Given the description of an element on the screen output the (x, y) to click on. 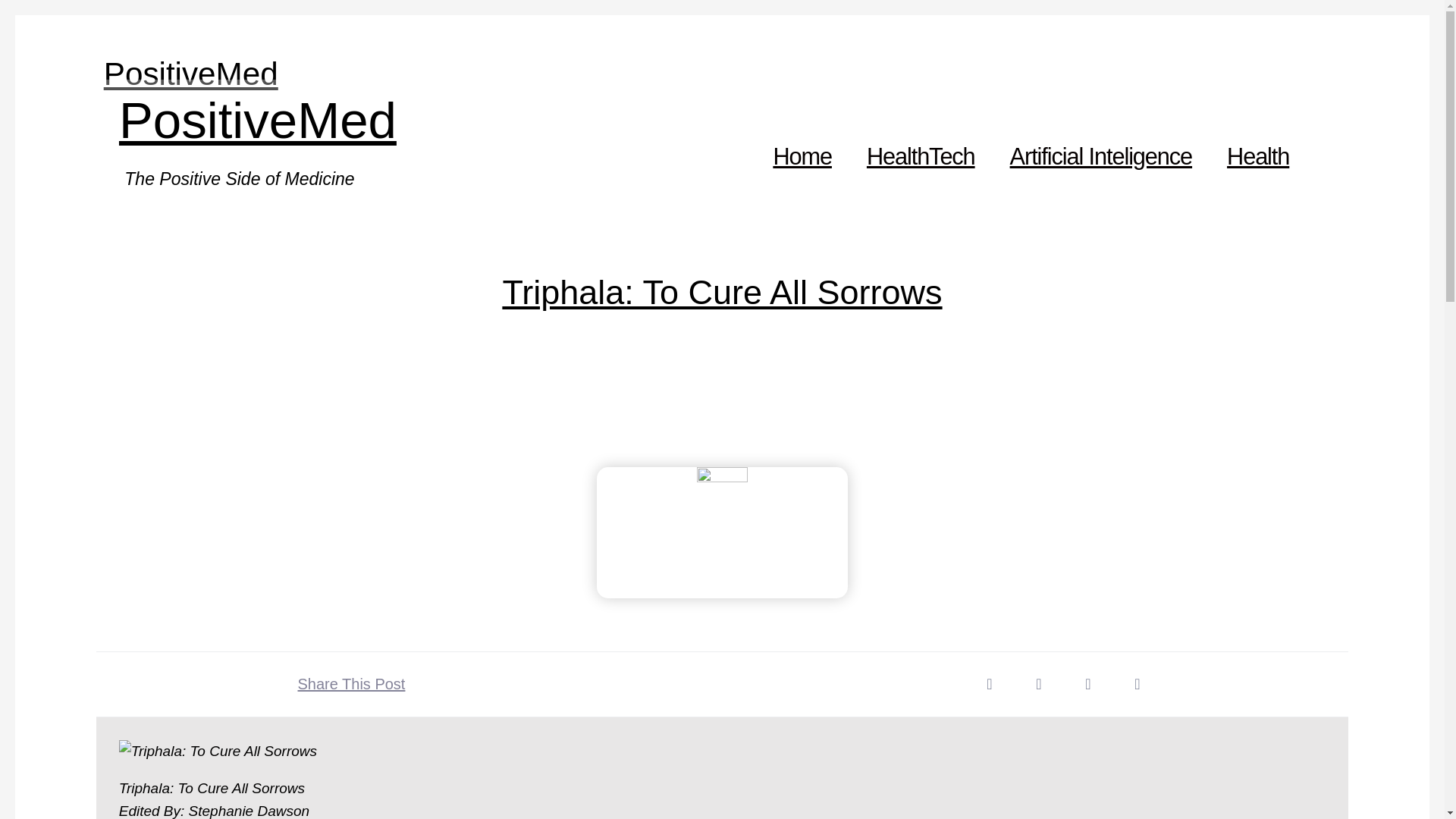
HealthTech (920, 156)
Home (802, 156)
PositiveMed (190, 73)
Health (1258, 156)
Artificial Inteligence (1101, 156)
